Given the description of an element on the screen output the (x, y) to click on. 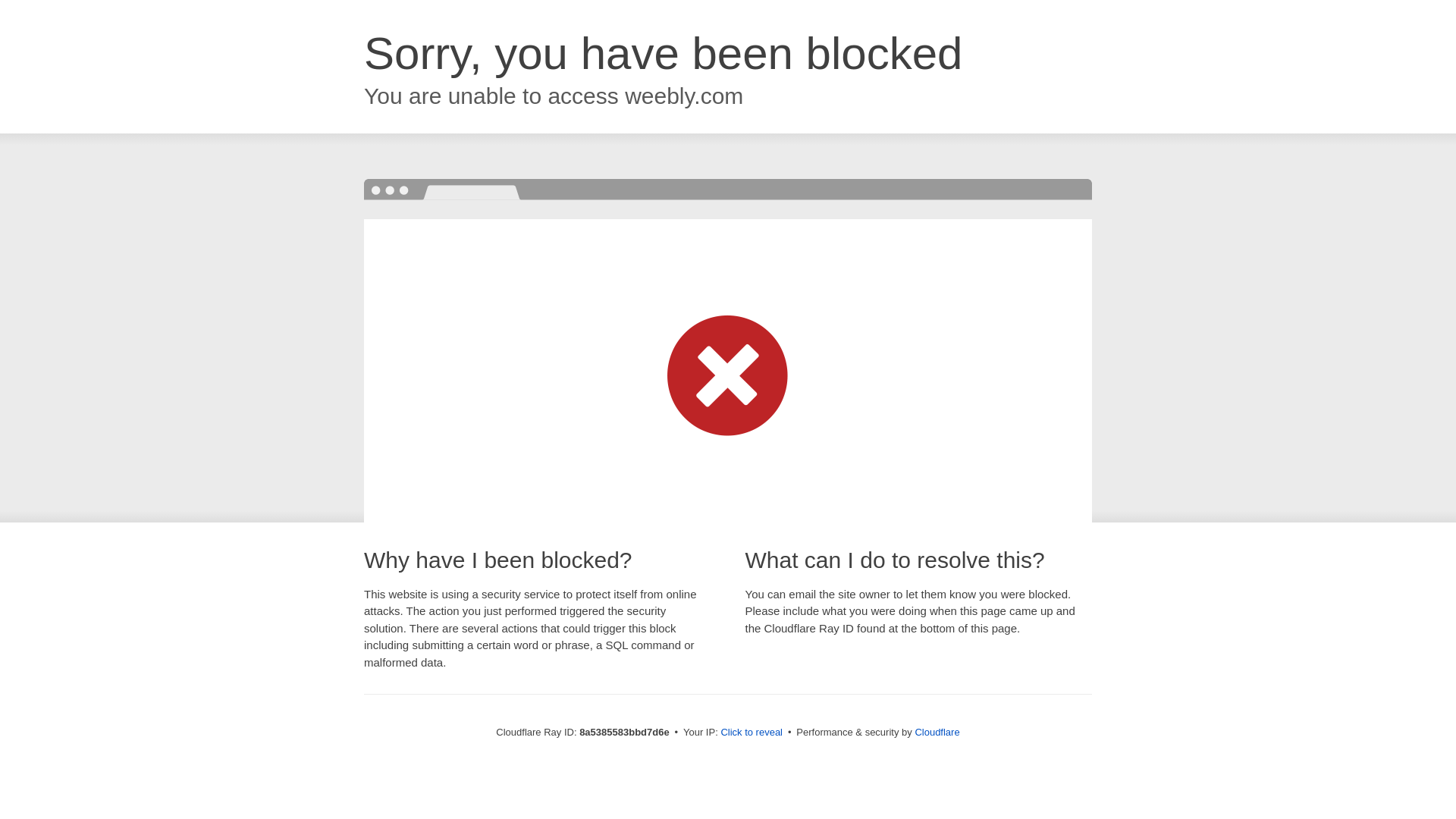
Click to reveal (751, 732)
Cloudflare (936, 731)
